Given the description of an element on the screen output the (x, y) to click on. 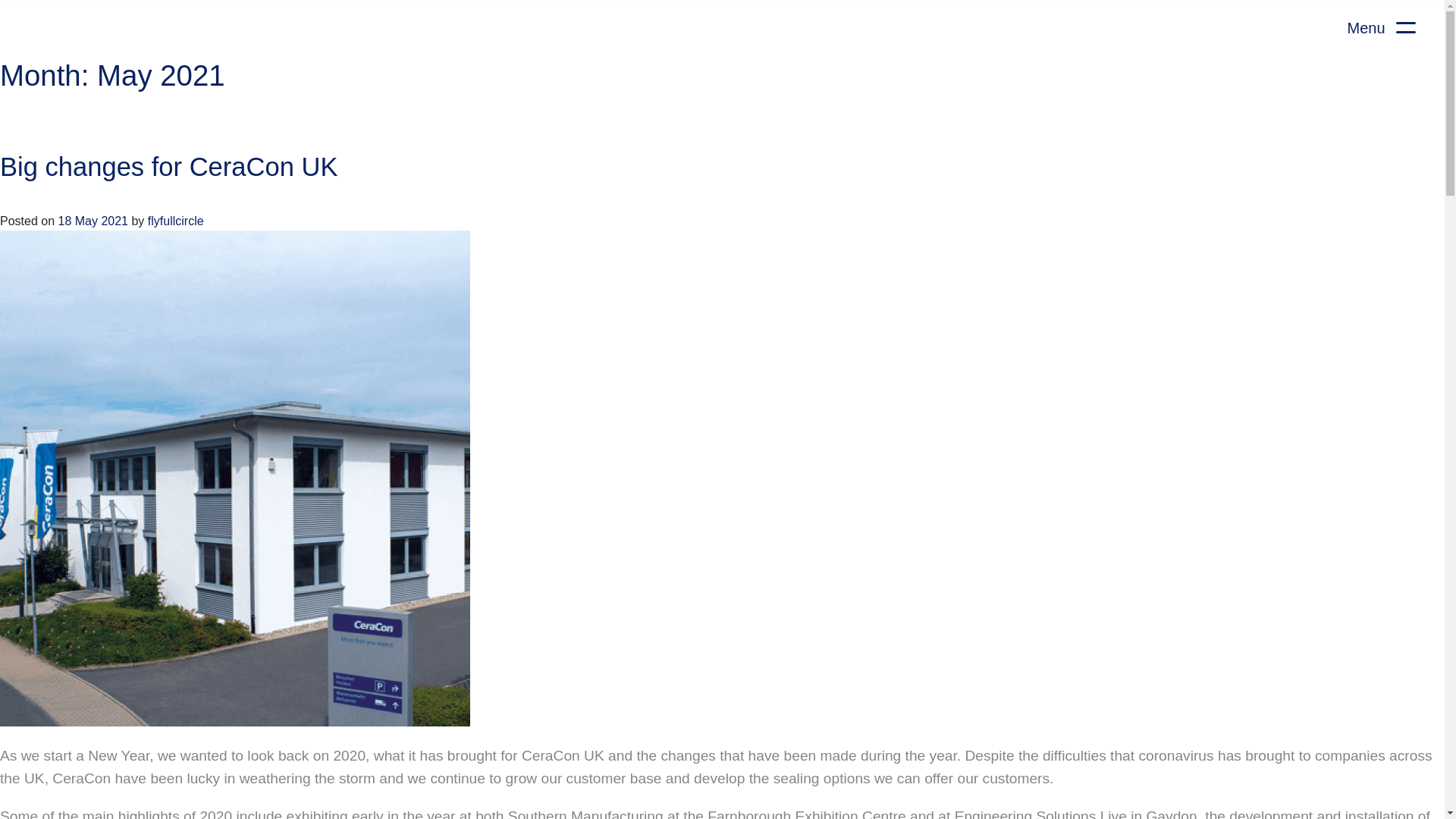
Big changes for CeraCon UK (168, 166)
18 May 2021 (93, 220)
flyfullcircle (175, 220)
